Given the description of an element on the screen output the (x, y) to click on. 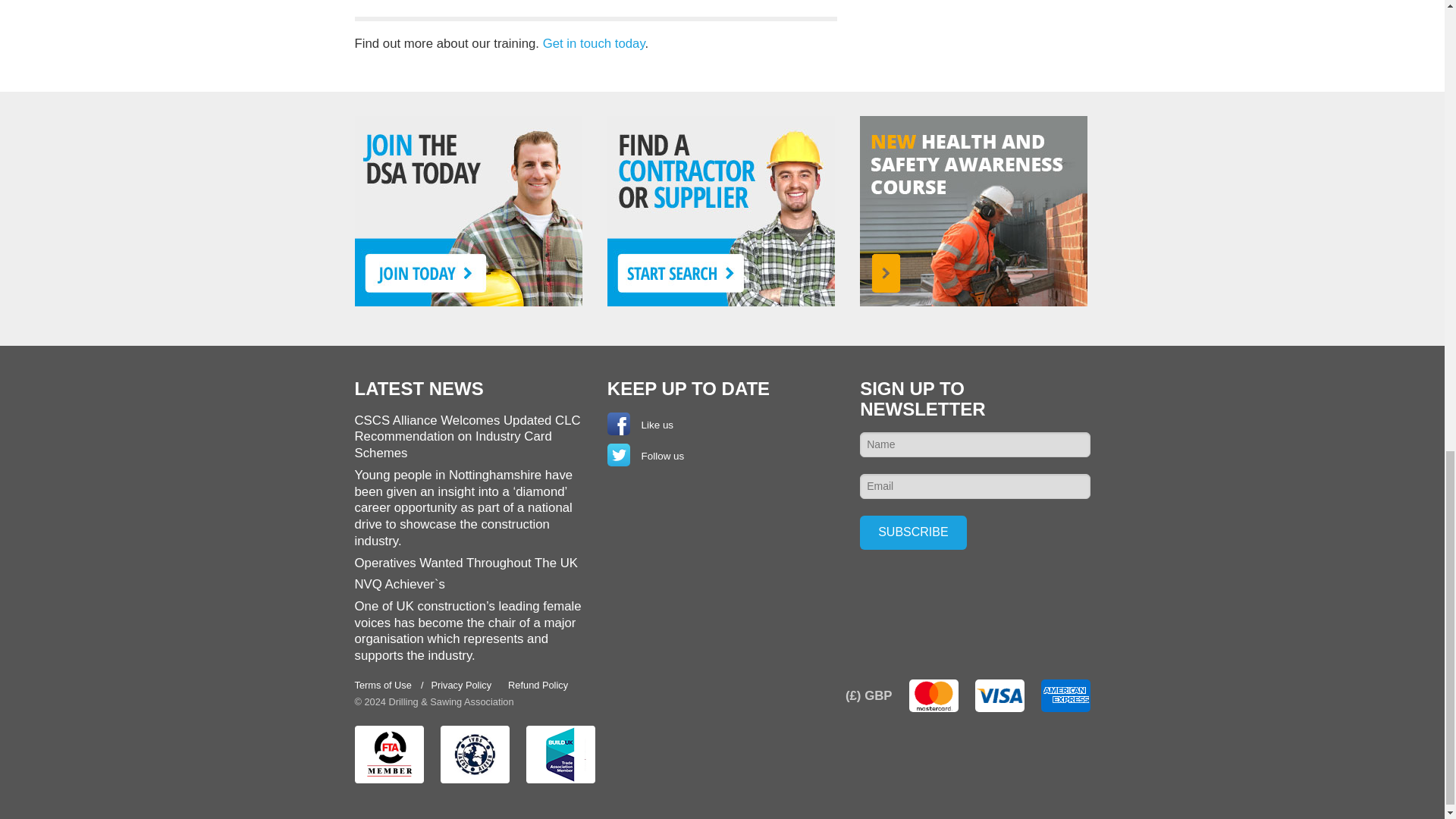
Privacy Policy (460, 685)
Contact Us (594, 43)
Facebook (618, 423)
Refund Policy (537, 685)
Terms of Use (383, 685)
Subscribe (913, 532)
Get in touch today (594, 43)
Subscribe (913, 532)
Operatives Wanted Throughout The UK (466, 563)
Twitter (618, 454)
